Given the description of an element on the screen output the (x, y) to click on. 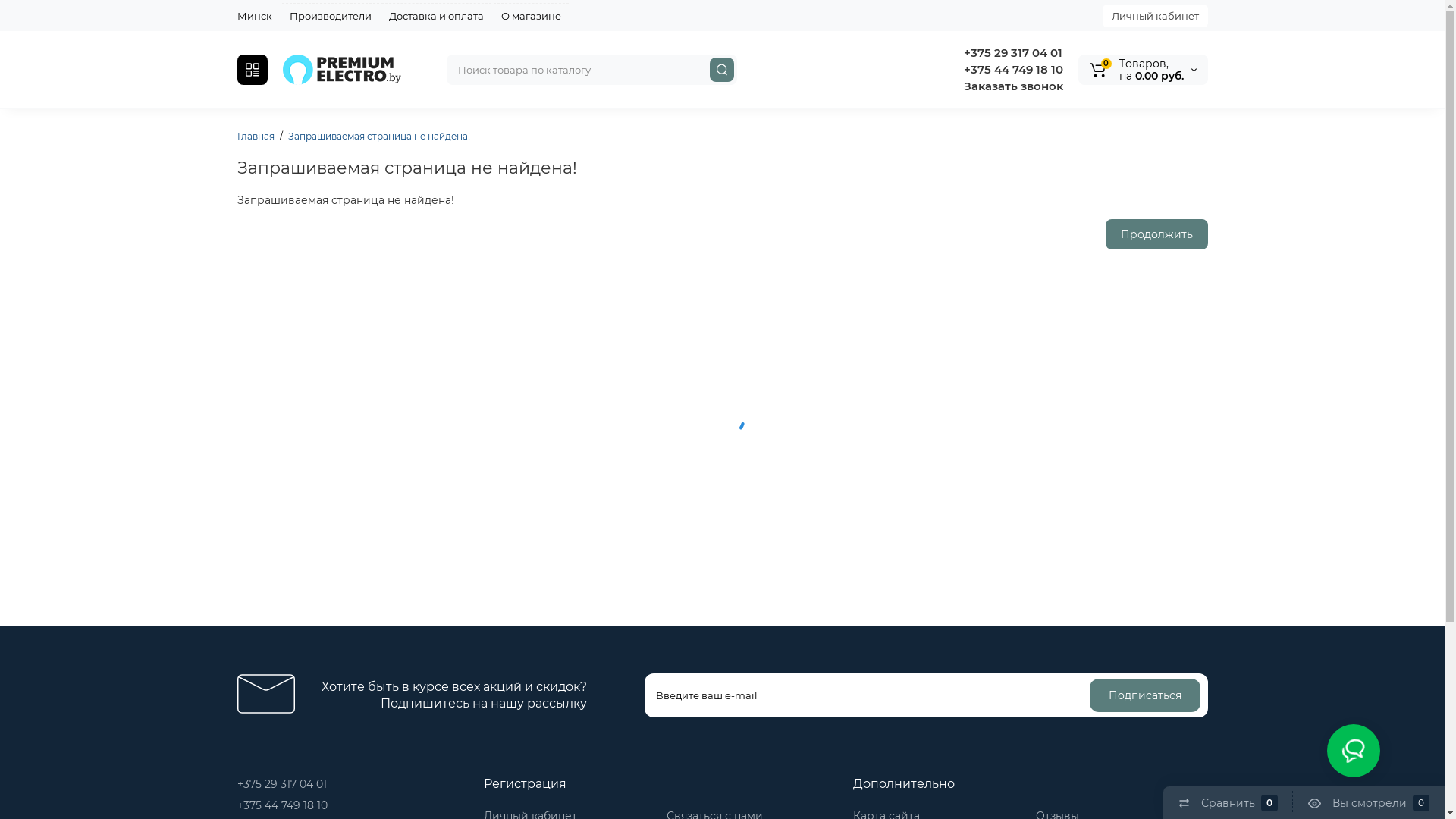
+375 29 317 04 01 Element type: text (1010, 52)
+375 44 749 18 10 Element type: text (281, 805)
+375 44 749 18 10 Element type: text (1011, 69)
+375 29 317 04 01 Element type: text (281, 783)
